Given the description of an element on the screen output the (x, y) to click on. 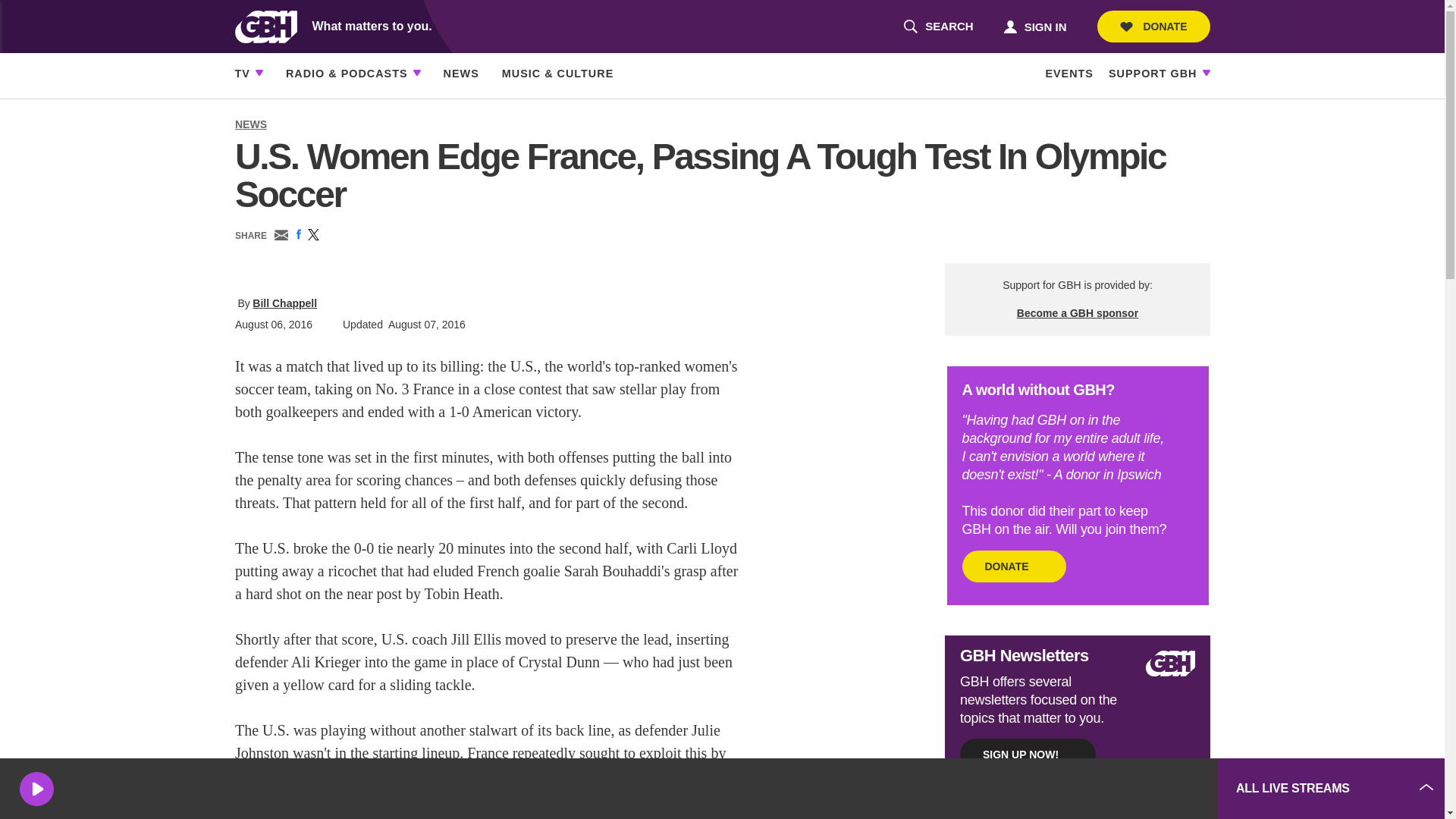
SIGN IN (937, 26)
DONATE (1034, 25)
